Given the description of an element on the screen output the (x, y) to click on. 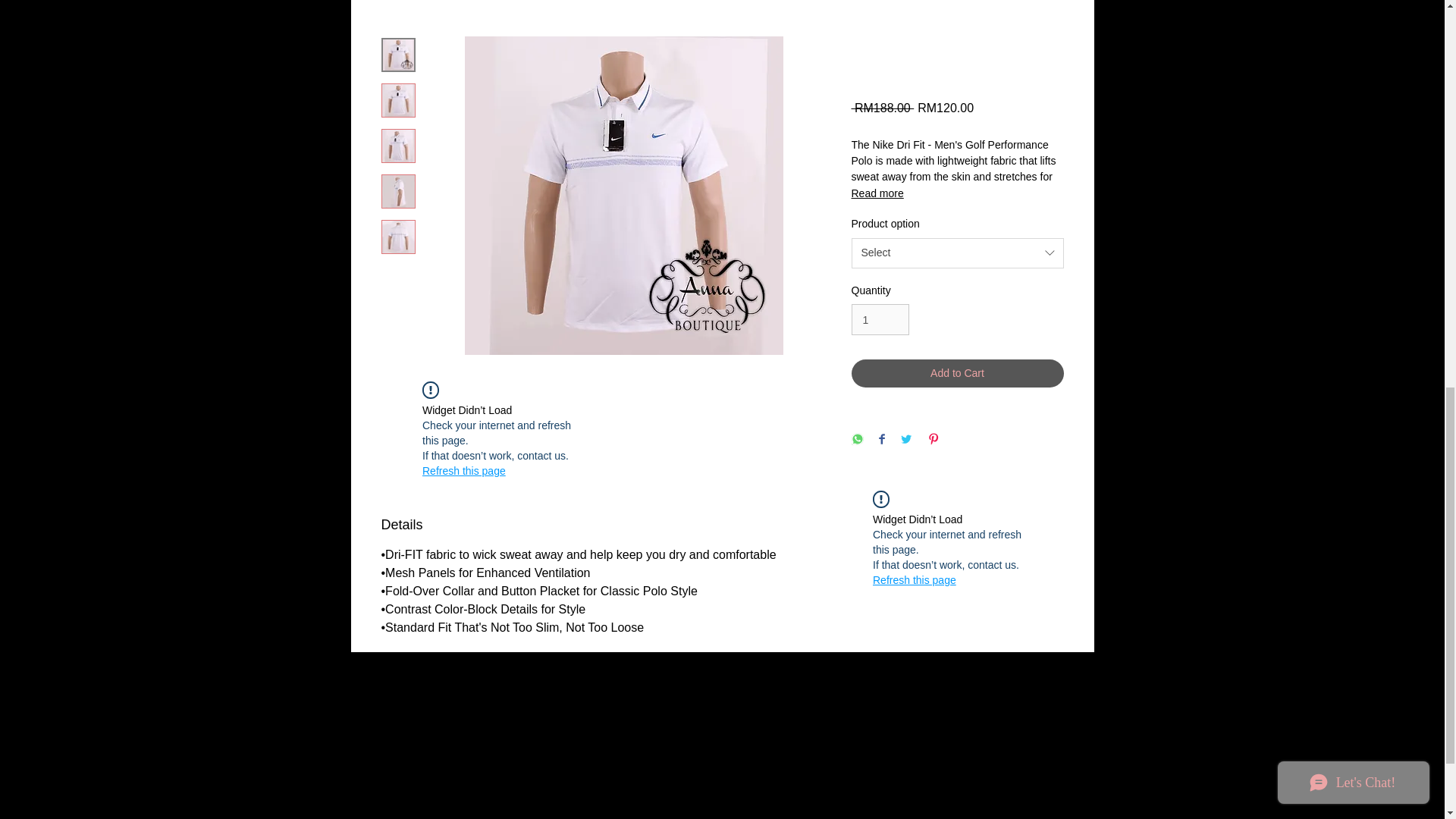
Add to Cart (956, 373)
Read more (956, 193)
1 (879, 318)
Refresh this page (463, 470)
Refresh this page (914, 580)
Select (956, 253)
